Given the description of an element on the screen output the (x, y) to click on. 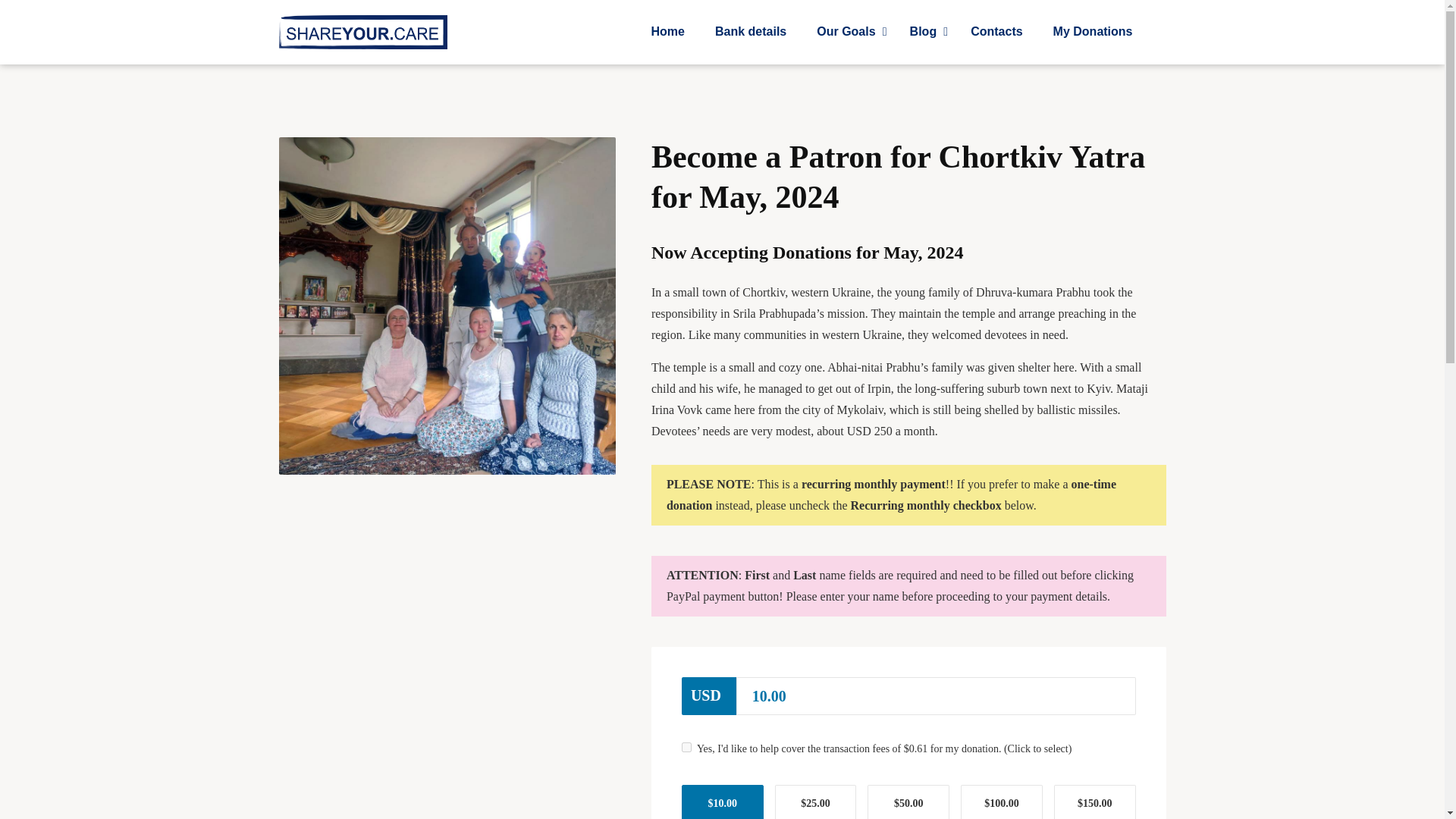
My Donations (1093, 32)
Our Goals (892, 32)
Bank details (847, 32)
Blog (751, 32)
Home (925, 32)
1 (668, 32)
Contacts (686, 747)
10.00 (995, 32)
